Given the description of an element on the screen output the (x, y) to click on. 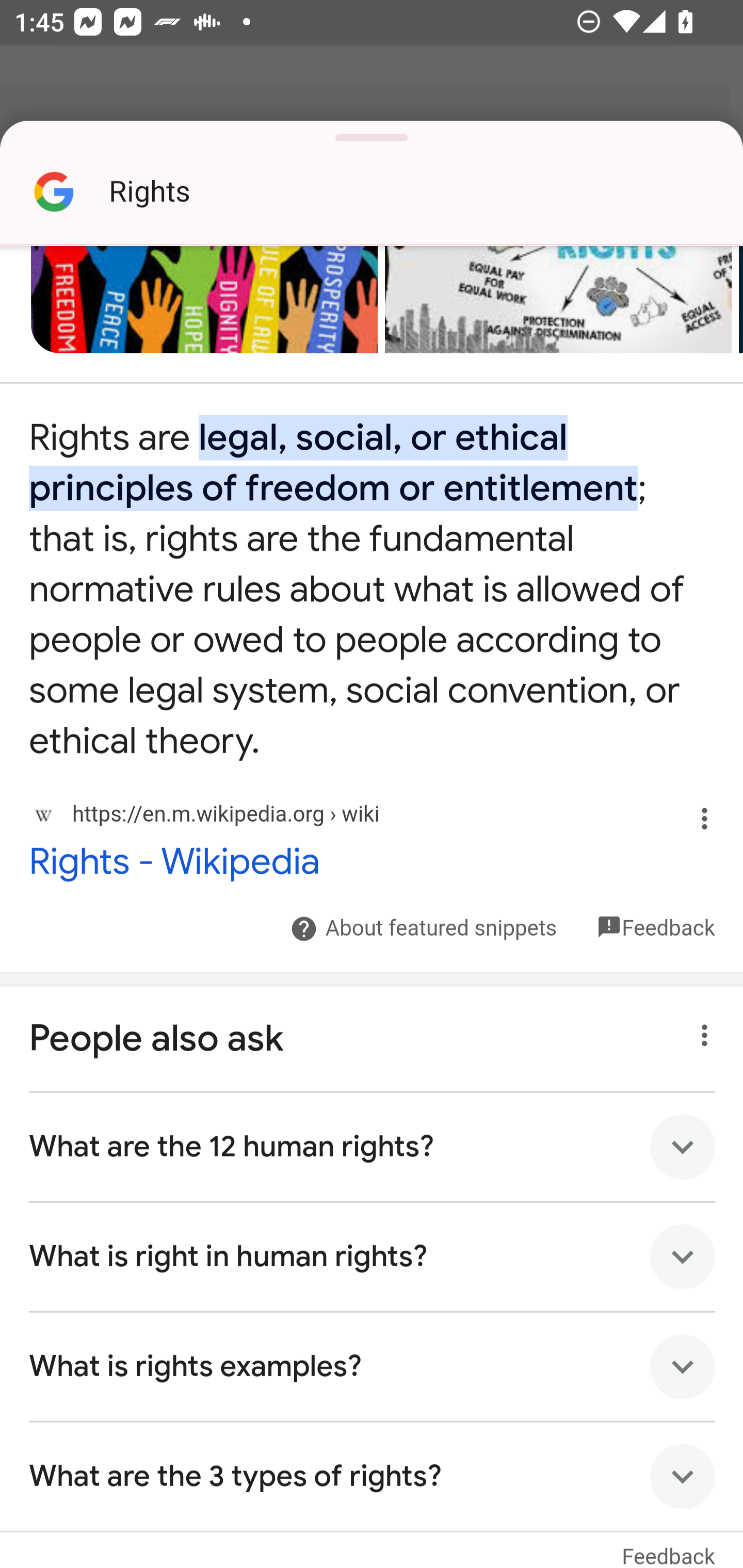
About this result (698, 827)
